Given the description of an element on the screen output the (x, y) to click on. 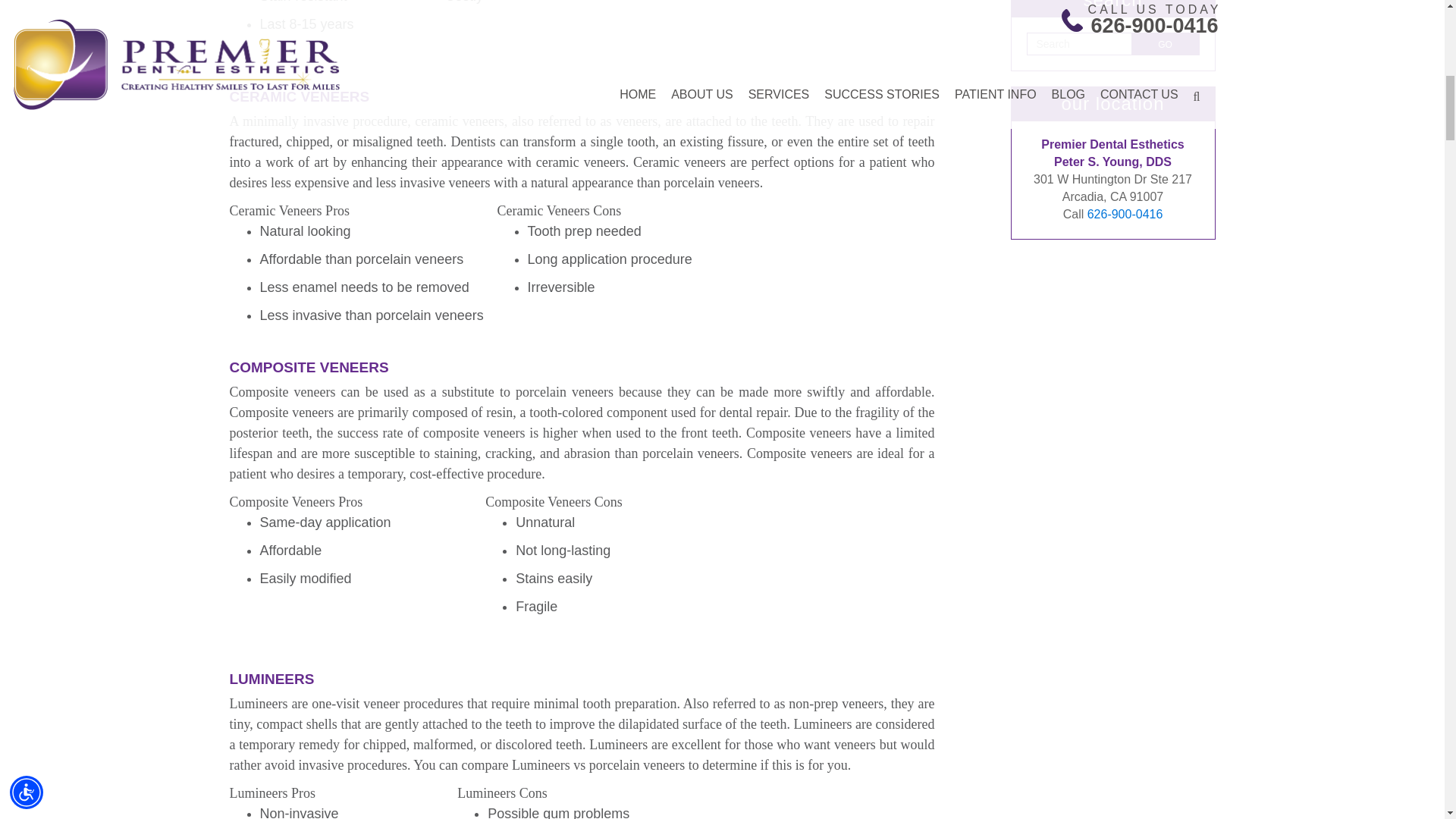
Search for: (1079, 43)
